Given the description of an element on the screen output the (x, y) to click on. 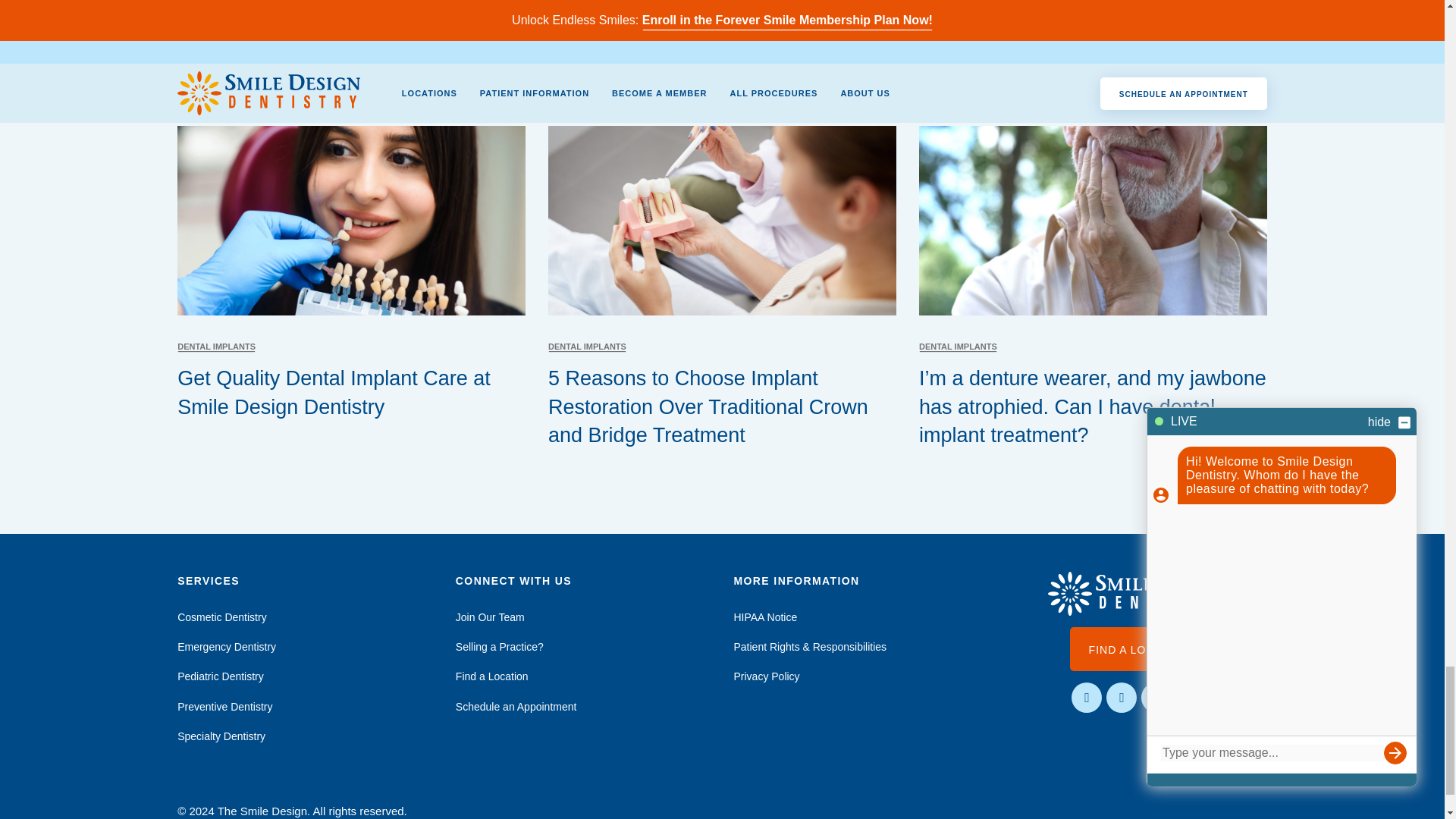
Facebook (1086, 697)
The Smile Design (1139, 593)
Instagram (1121, 697)
LinkedIn (1191, 697)
Twitter (1156, 697)
